Given the description of an element on the screen output the (x, y) to click on. 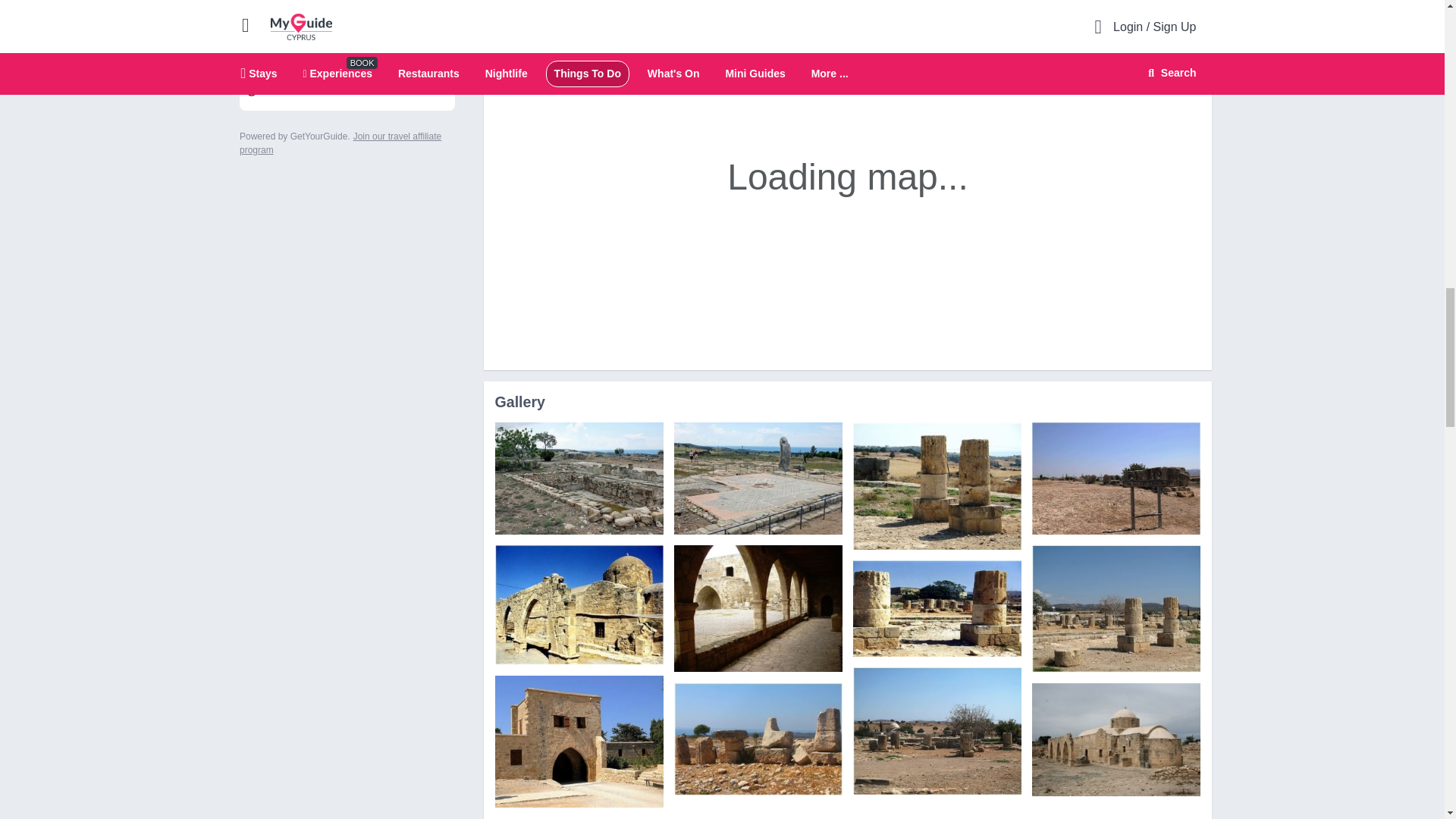
GetYourGuide Widget (346, 77)
